Given the description of an element on the screen output the (x, y) to click on. 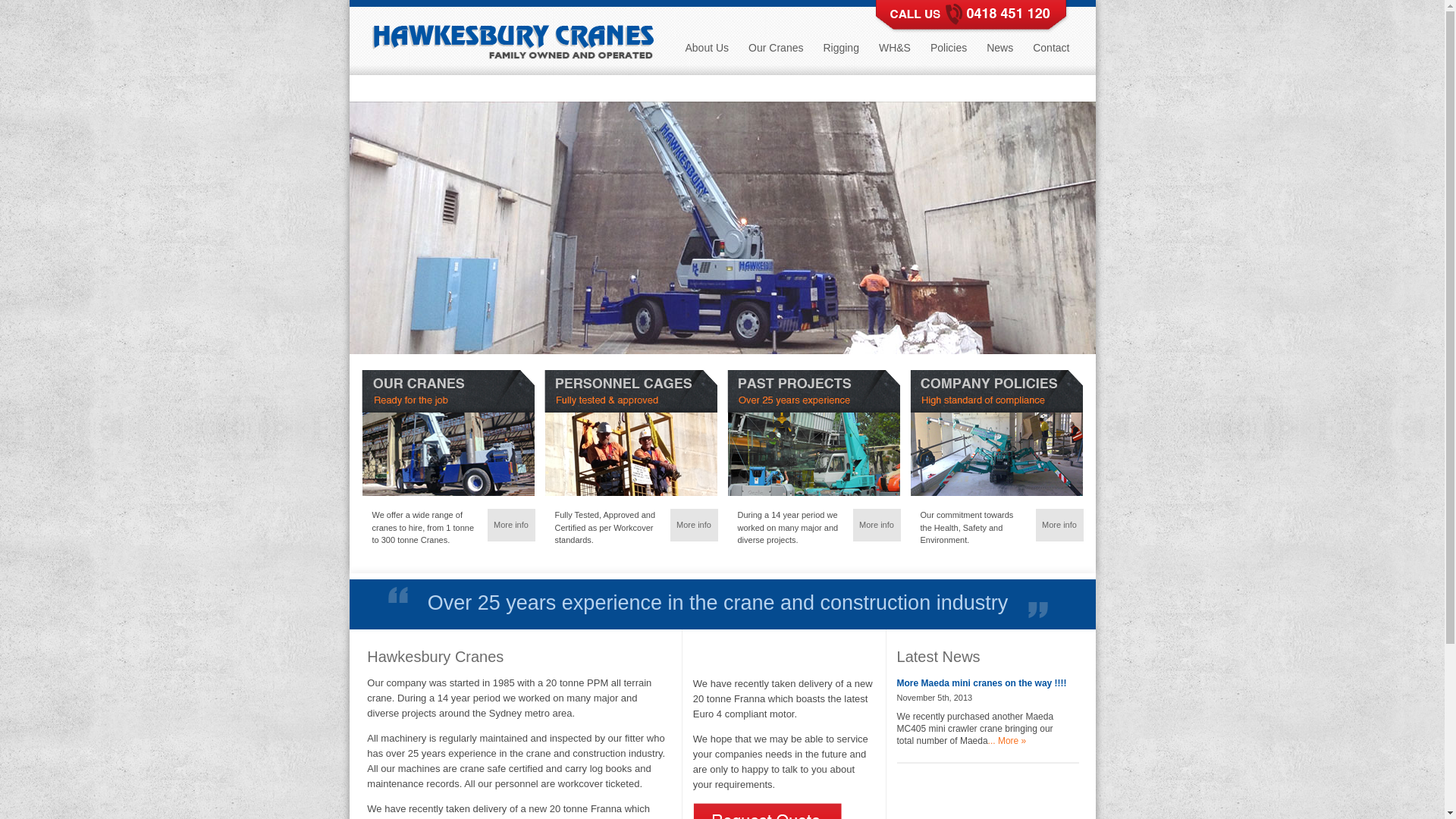
WH&S Element type: text (894, 52)
Policies Element type: text (948, 52)
Our Cranes Element type: text (775, 52)
More info Element type: text (876, 524)
More info Element type: text (693, 524)
More Maeda mini cranes on the way !!!! Element type: text (981, 682)
About Us Element type: text (706, 52)
Contact Element type: text (1050, 52)
Hawkesbury Cranes Element type: hover (506, 60)
More info Element type: text (1058, 524)
Rigging Element type: text (840, 52)
News Element type: text (999, 52)
More info Element type: text (510, 524)
